Given the description of an element on the screen output the (x, y) to click on. 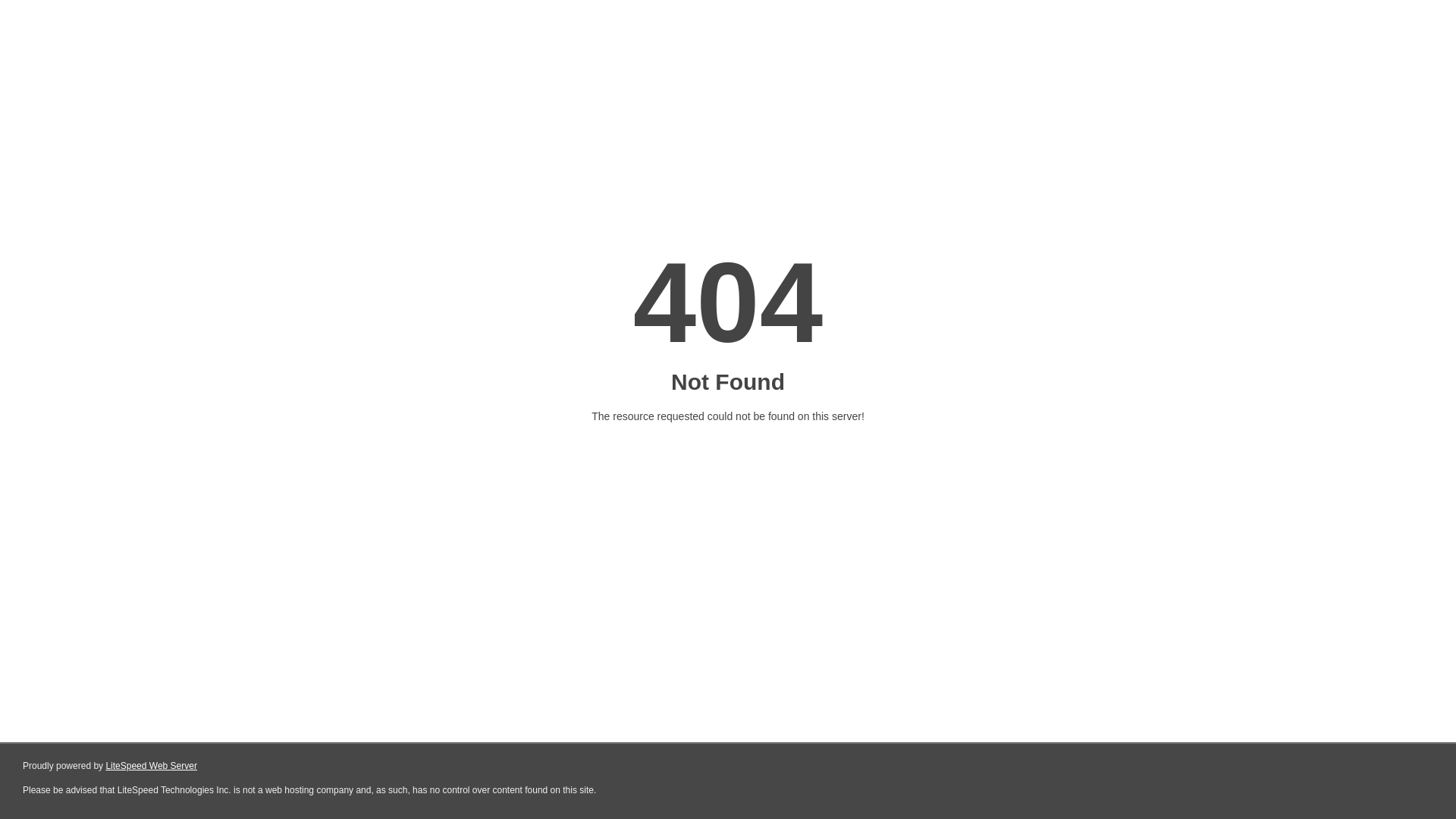
LiteSpeed Web Server Element type: text (151, 765)
